Given the description of an element on the screen output the (x, y) to click on. 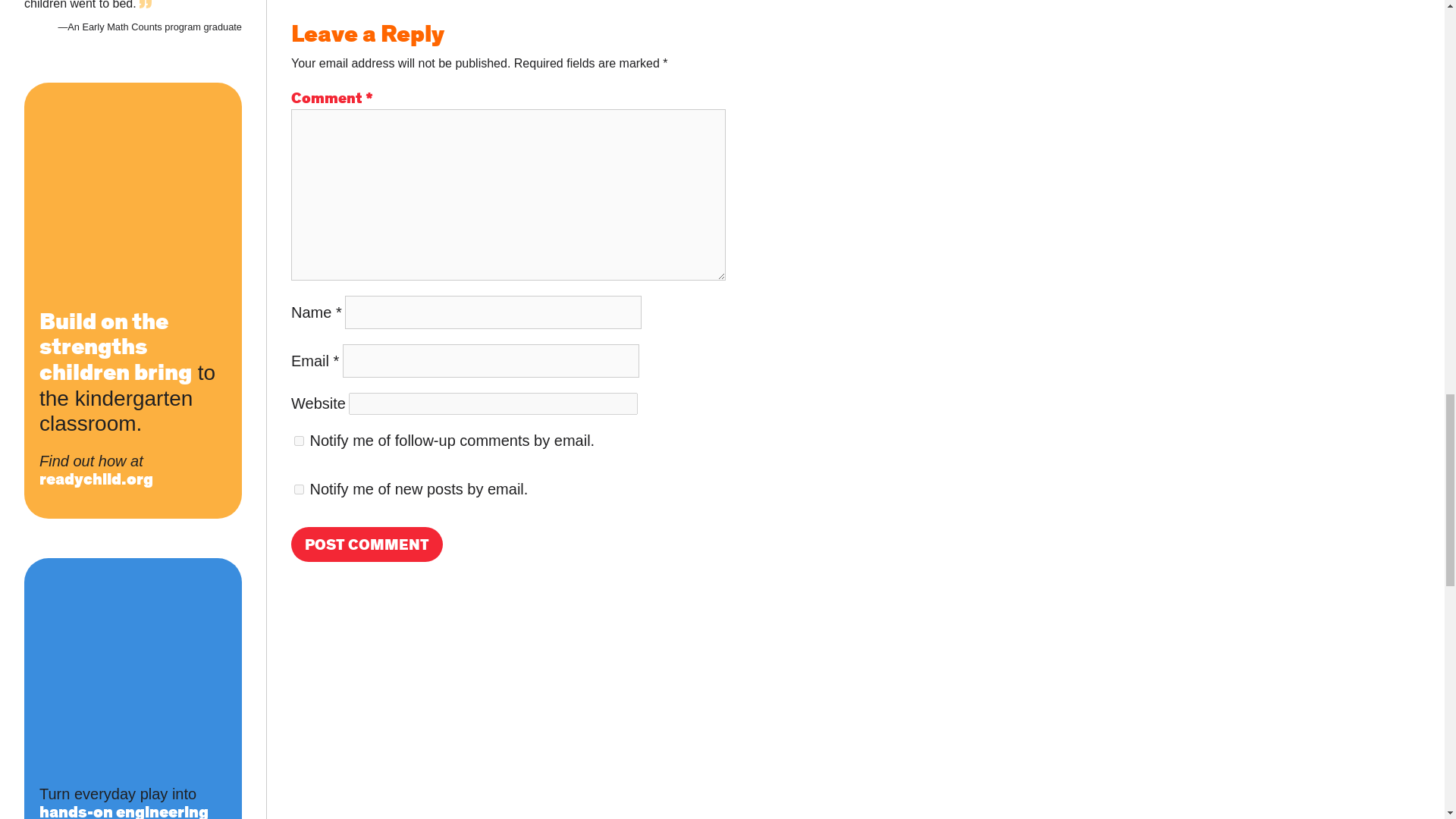
subscribe (299, 440)
Post Comment (366, 544)
subscribe (299, 489)
